Given the description of an element on the screen output the (x, y) to click on. 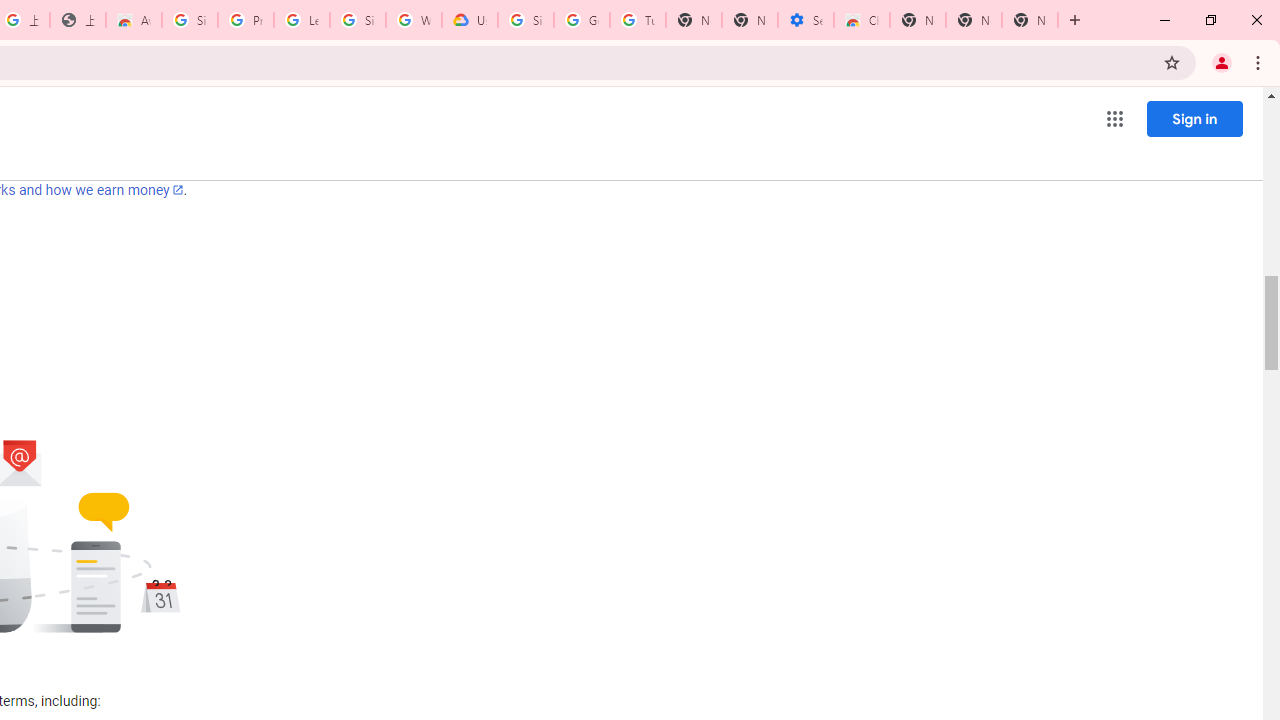
Sign in - Google Accounts (358, 20)
New Tab (917, 20)
services (257, 165)
Google apps (1114, 118)
Sign in - Google Accounts (189, 20)
Close (1256, 20)
Turn cookies on or off - Computer - Google Account Help (637, 20)
Chrome Web Store - Accessibility extensions (861, 20)
Minimize (1165, 20)
Sign in - Google Accounts (525, 20)
Google Account Help (582, 20)
You (1221, 62)
Restore (1210, 20)
